Given the description of an element on the screen output the (x, y) to click on. 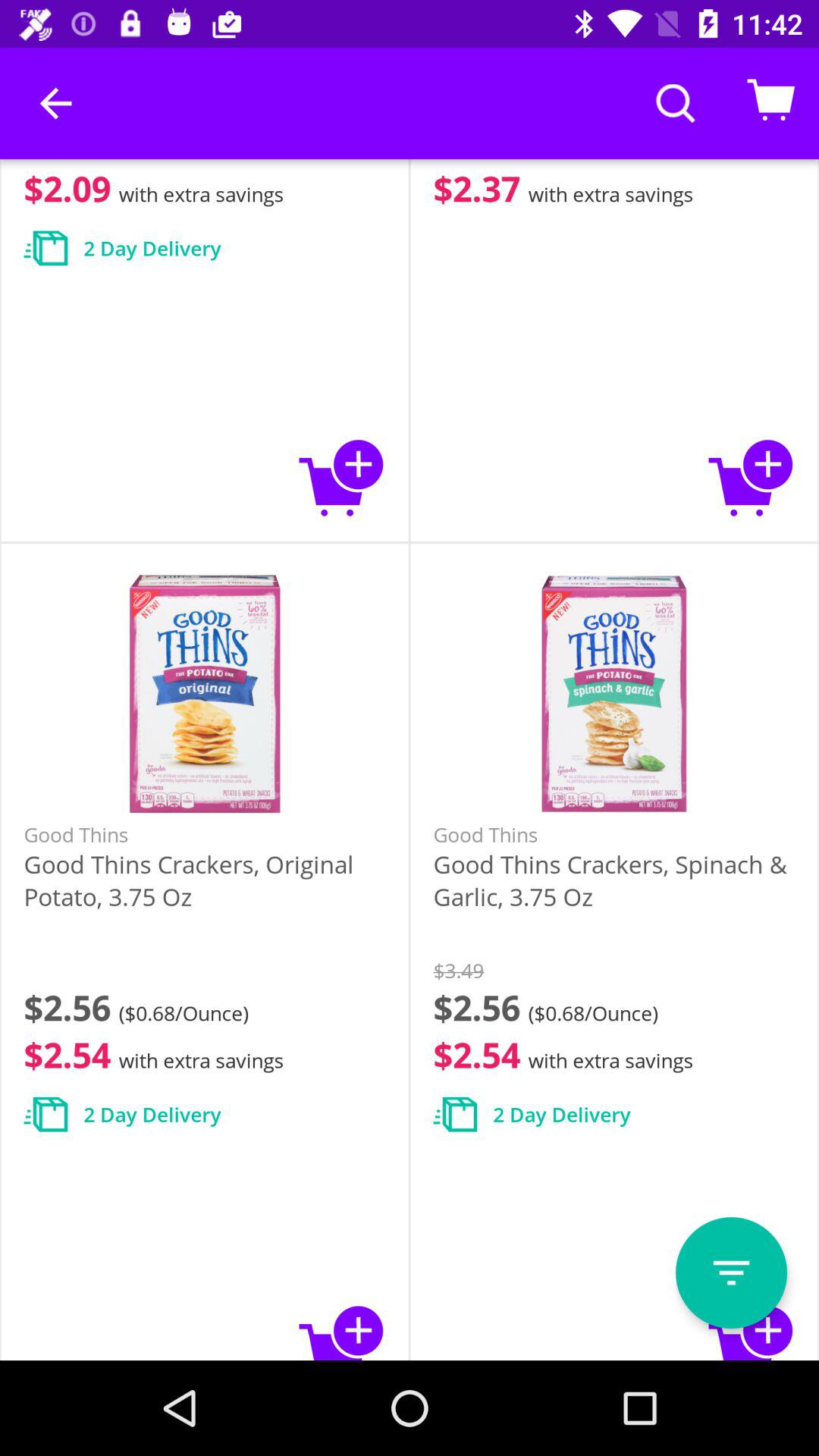
go to menu (731, 1272)
